Given the description of an element on the screen output the (x, y) to click on. 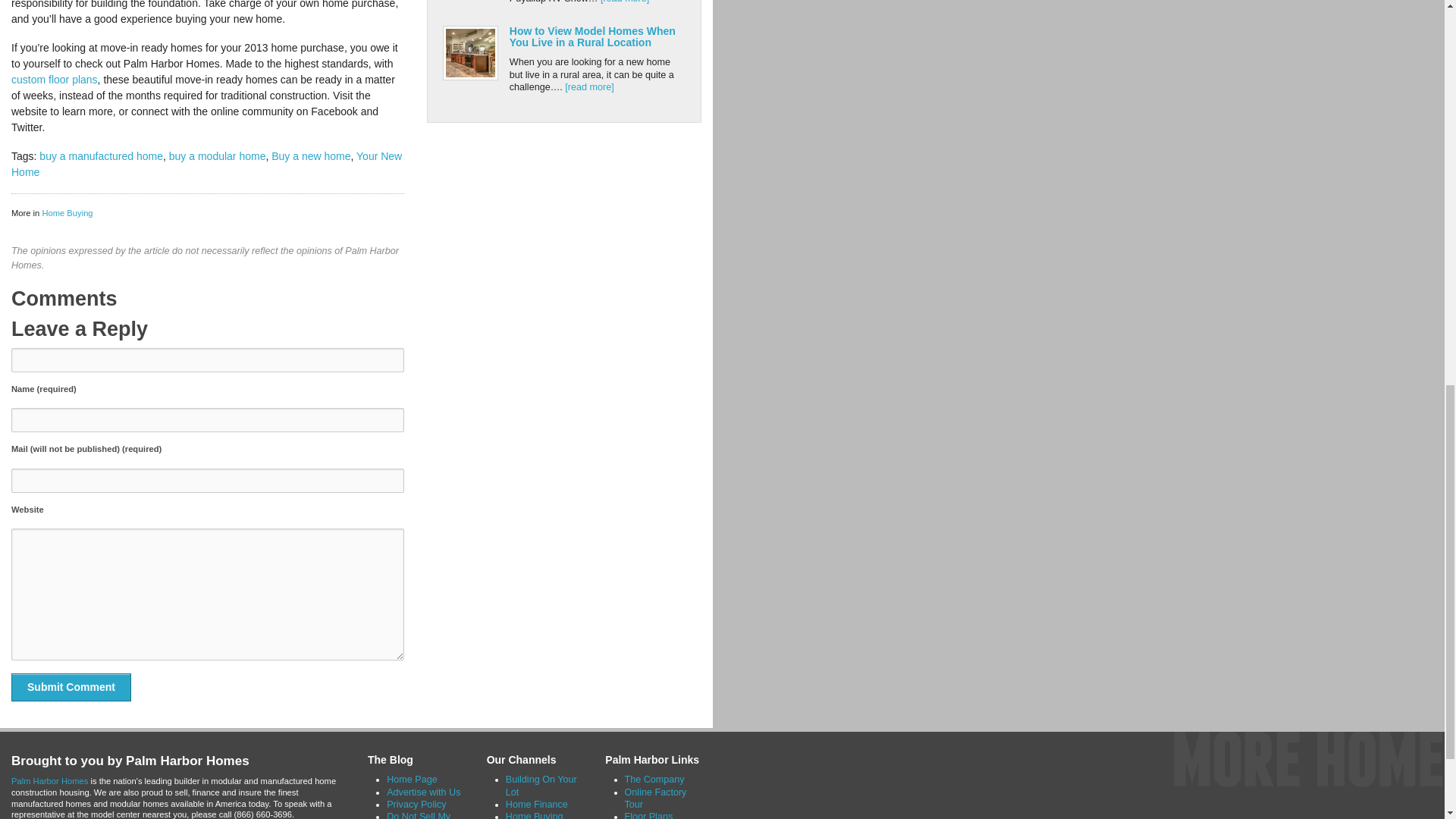
buy a manufactured home (101, 155)
manufactured home floor plans (54, 79)
Your New Home (206, 163)
Home Buying (67, 212)
Submit Comment (71, 687)
Buy a new home (310, 155)
custom floor plans (54, 79)
Submit Comment (71, 687)
buy a modular home (217, 155)
